Given the description of an element on the screen output the (x, y) to click on. 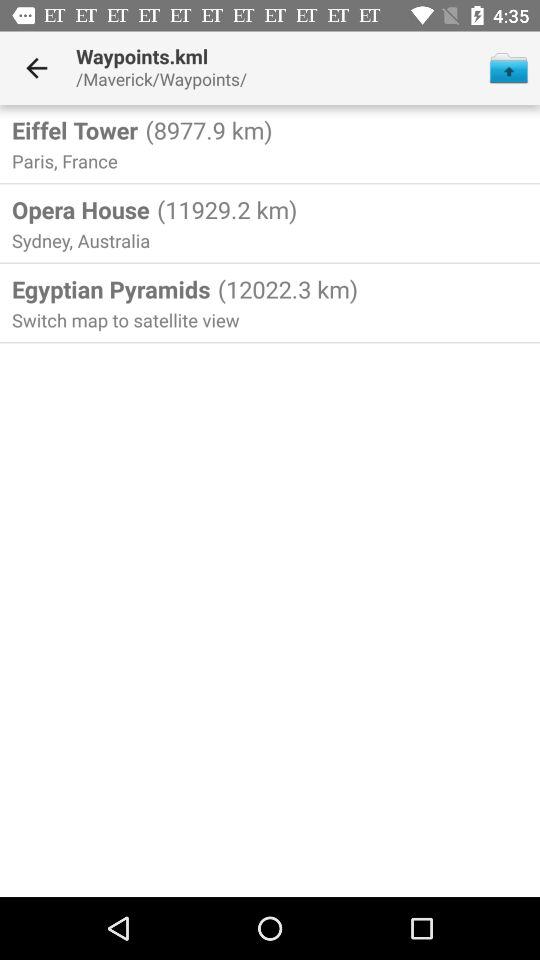
press the icon above egyptian pyramids icon (83, 240)
